Given the description of an element on the screen output the (x, y) to click on. 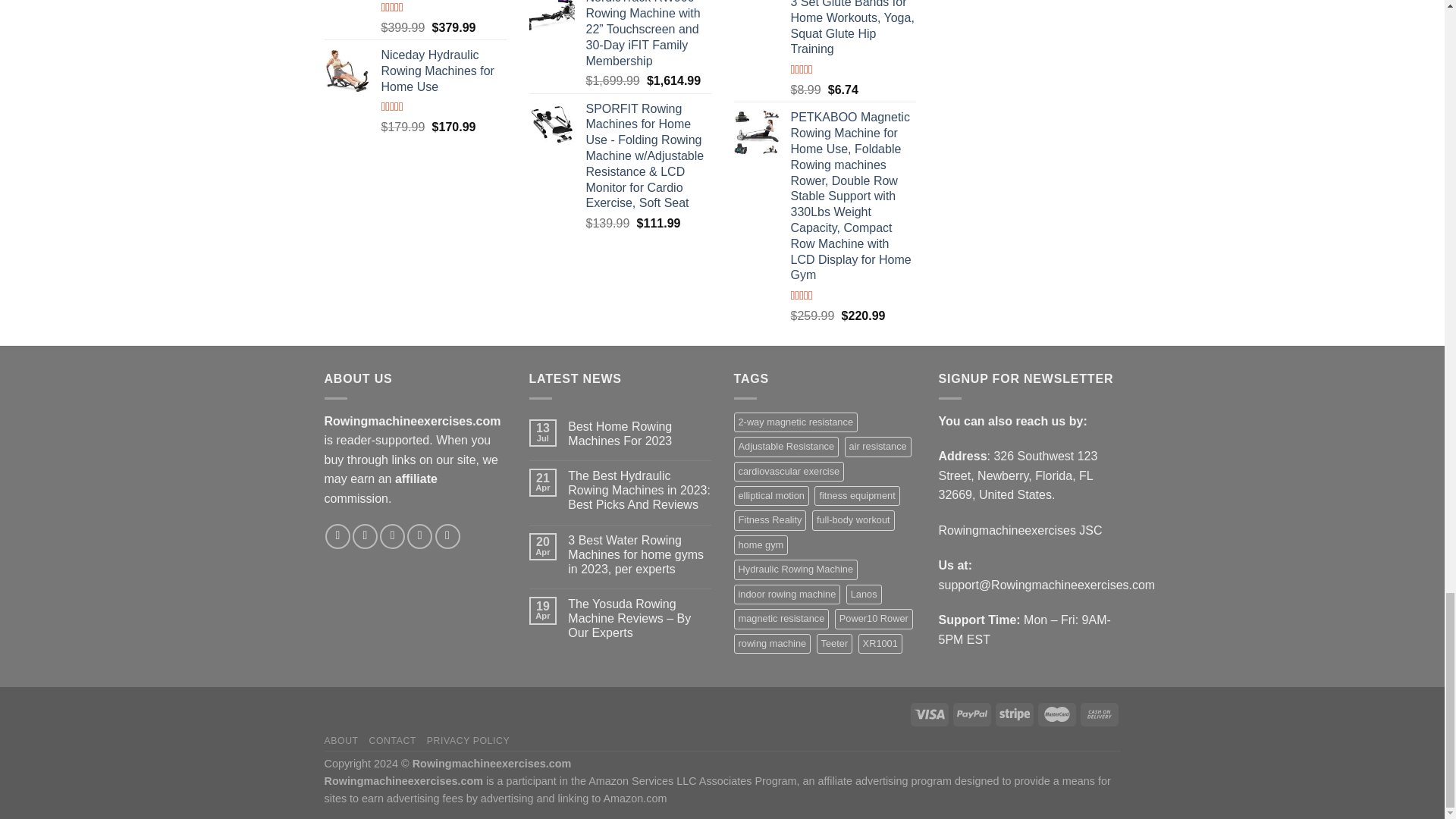
Best Home Rowing Machines For 2023 (638, 433)
